Given the description of an element on the screen output the (x, y) to click on. 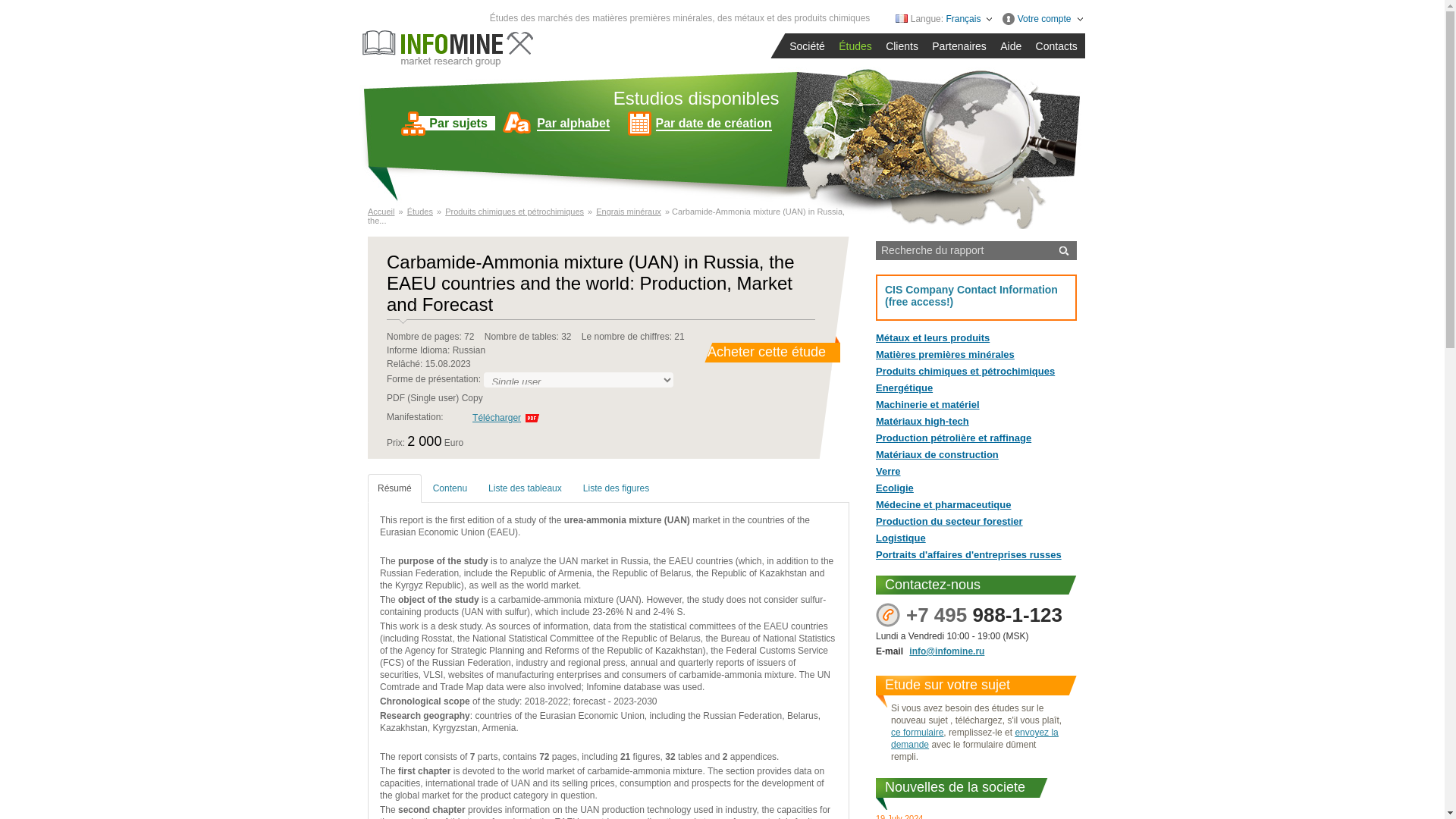
Clients (902, 47)
Logistique (976, 537)
ce formulaire (917, 732)
Production du secteur forestier (976, 521)
Verre (976, 471)
Ecoligie (976, 487)
Portraits d'affaires d'entreprises russes (976, 554)
Aide (1010, 47)
Par alphabet (564, 123)
envoyez la demande (974, 738)
Par sujets (450, 123)
Contacts (1056, 47)
Partenaires (959, 47)
